Given the description of an element on the screen output the (x, y) to click on. 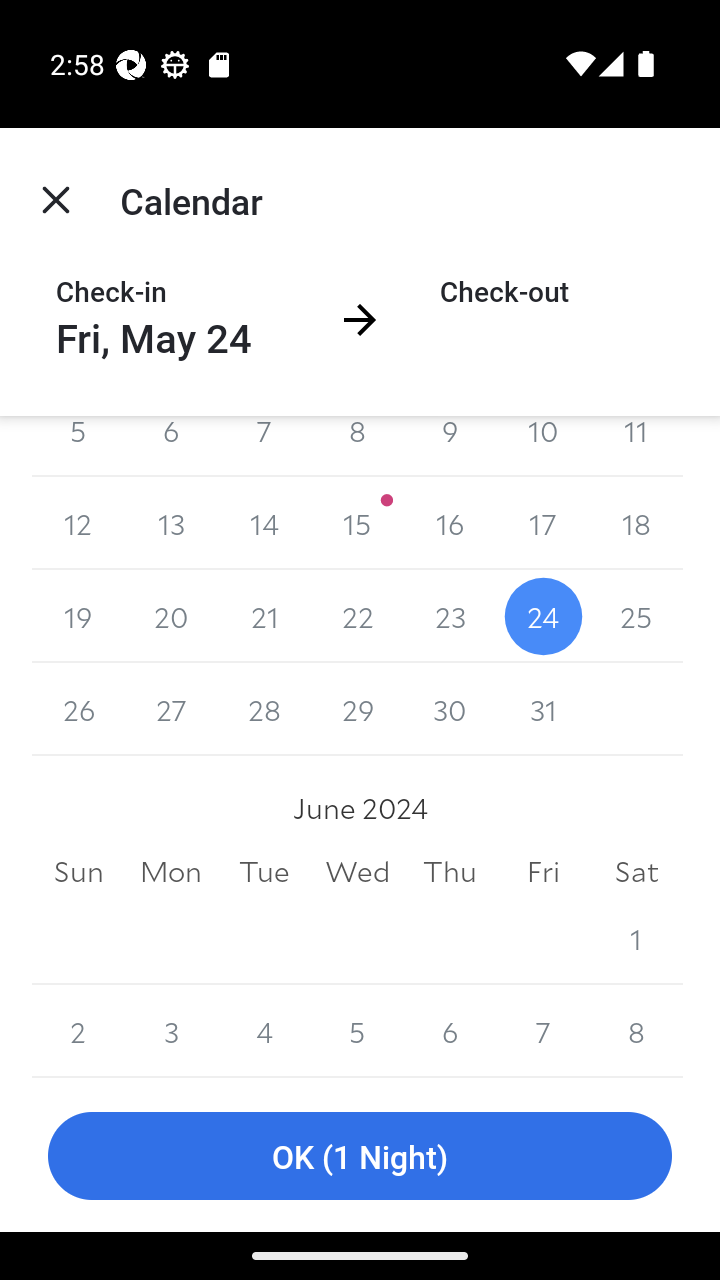
5 5 May 2024 (78, 446)
6 6 May 2024 (171, 446)
7 7 May 2024 (264, 446)
8 8 May 2024 (357, 446)
9 9 May 2024 (449, 446)
10 10 May 2024 (542, 446)
11 11 May 2024 (636, 446)
12 12 May 2024 (78, 523)
13 13 May 2024 (171, 523)
14 14 May 2024 (264, 523)
15 15 May 2024 (357, 523)
16 16 May 2024 (449, 523)
17 17 May 2024 (542, 523)
18 18 May 2024 (636, 523)
19 19 May 2024 (78, 616)
20 20 May 2024 (171, 616)
21 21 May 2024 (264, 616)
22 22 May 2024 (357, 616)
23 23 May 2024 (449, 616)
24 24 May 2024 (542, 616)
25 25 May 2024 (636, 616)
26 26 May 2024 (78, 709)
27 27 May 2024 (171, 709)
28 28 May 2024 (264, 709)
29 29 May 2024 (357, 709)
30 30 May 2024 (449, 709)
31 31 May 2024 (542, 709)
Sun (78, 871)
Mon (171, 871)
Tue (264, 871)
Wed (357, 871)
Thu (449, 871)
Fri (542, 871)
Sat (636, 871)
1 1 June 2024 (636, 938)
2 2 June 2024 (78, 1031)
3 3 June 2024 (171, 1031)
4 4 June 2024 (264, 1031)
5 5 June 2024 (357, 1031)
6 6 June 2024 (449, 1031)
7 7 June 2024 (542, 1031)
8 8 June 2024 (636, 1031)
OK (1 Night) (359, 1156)
